Given the description of an element on the screen output the (x, y) to click on. 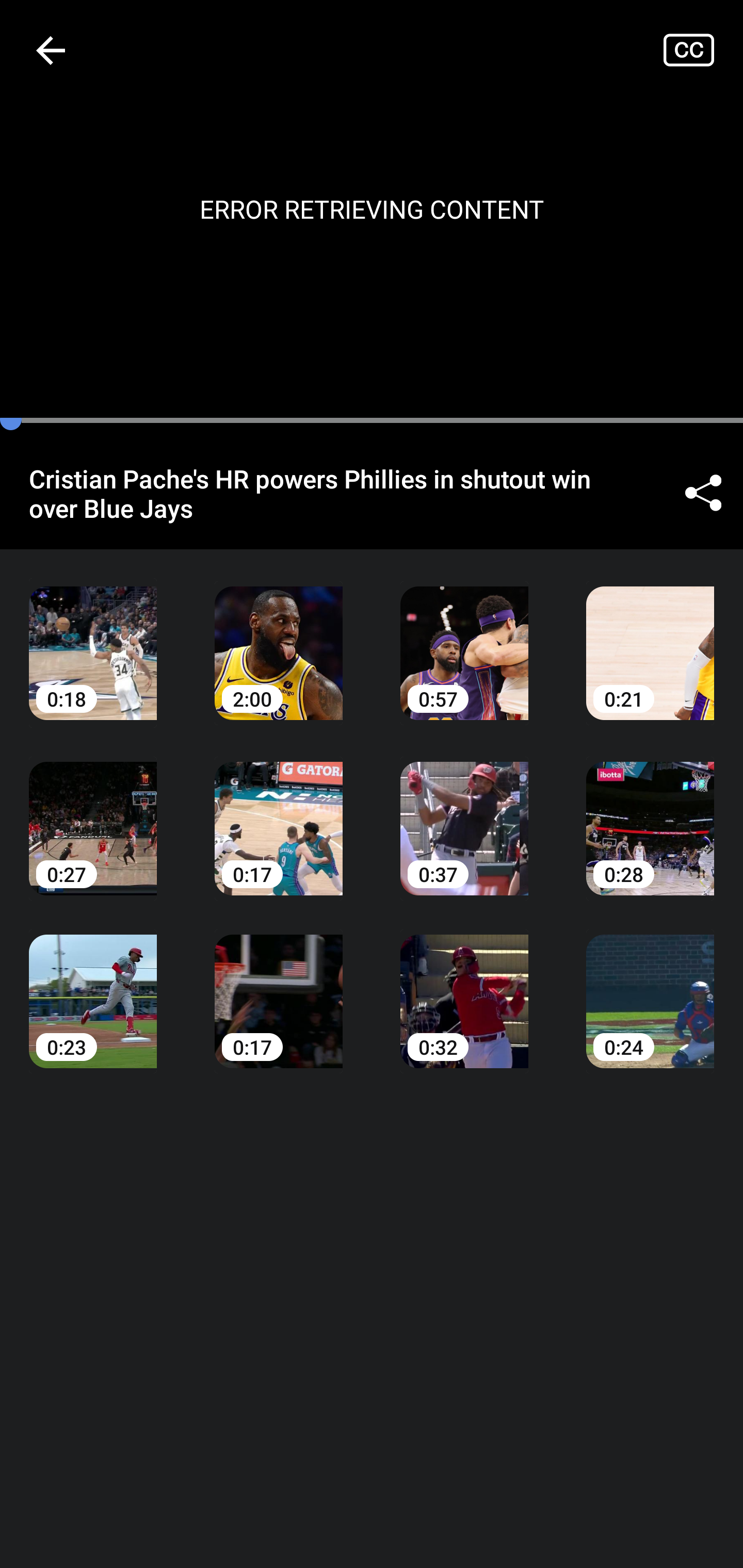
Navigate up (50, 50)
Closed captions  (703, 49)
Share © (703, 493)
0:18 (92, 637)
2:00 (278, 637)
0:57 (464, 637)
0:21 (650, 637)
0:27 (92, 813)
0:17 (278, 813)
0:37 (464, 813)
0:28 (650, 813)
0:23 (92, 987)
0:17 (278, 987)
0:32 (464, 987)
0:24 (650, 987)
